Given the description of an element on the screen output the (x, y) to click on. 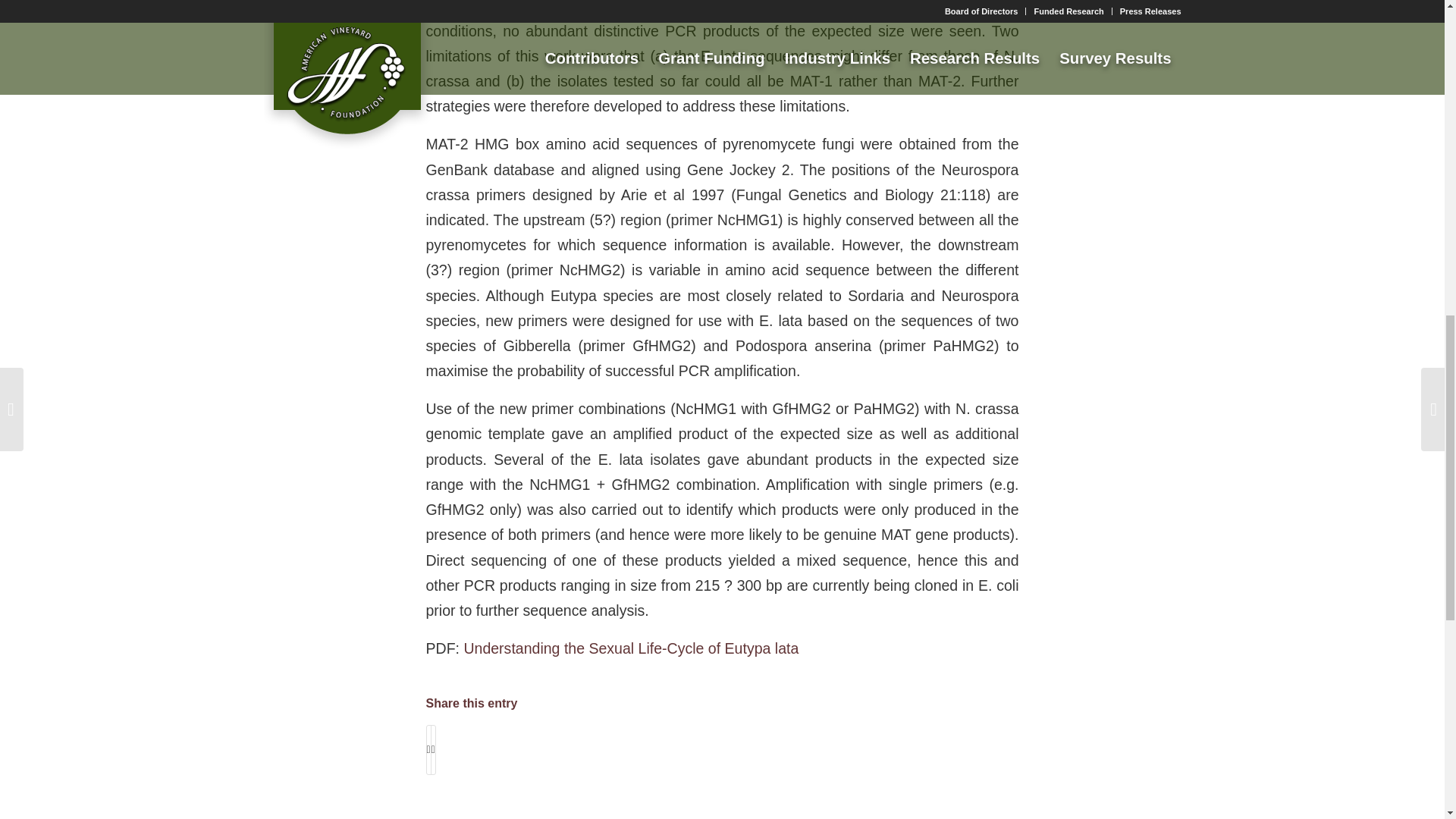
Understanding the Sexual Life-Cycle of Eutypa lata (630, 647)
